Given the description of an element on the screen output the (x, y) to click on. 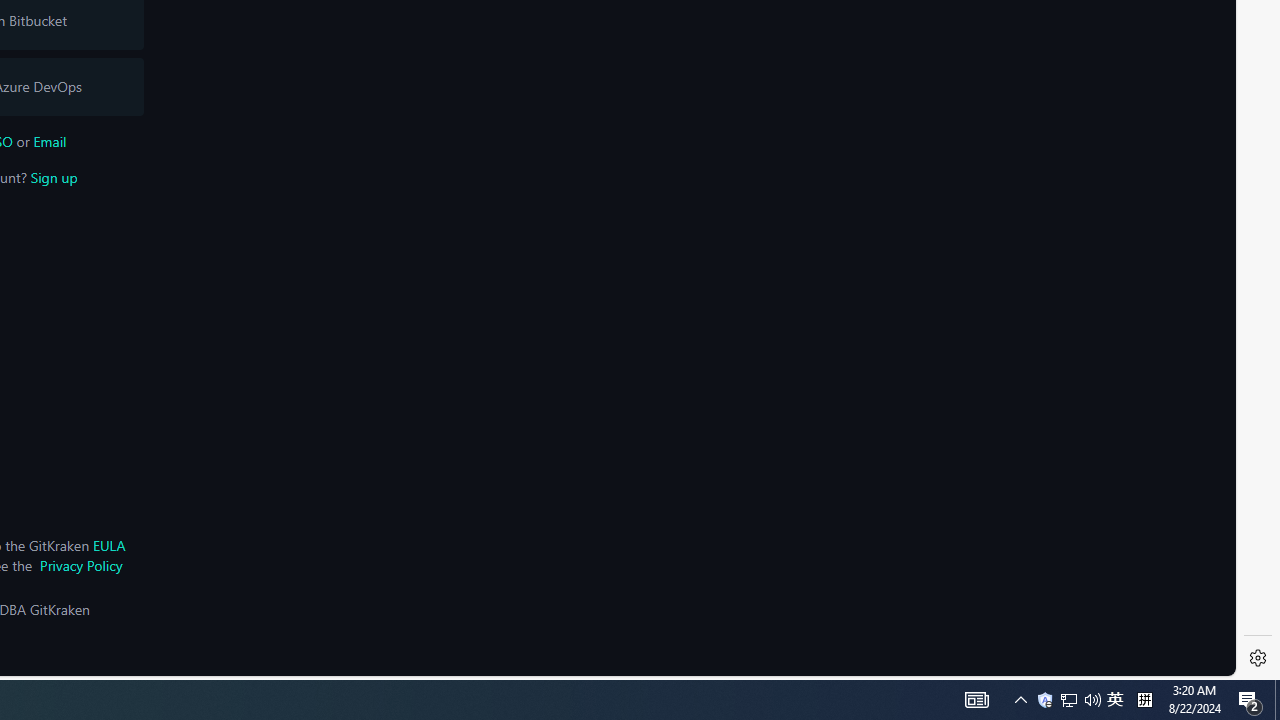
Privacy Policy (80, 565)
EULA (108, 545)
Sign up (53, 177)
Email (49, 141)
